Given the description of an element on the screen output the (x, y) to click on. 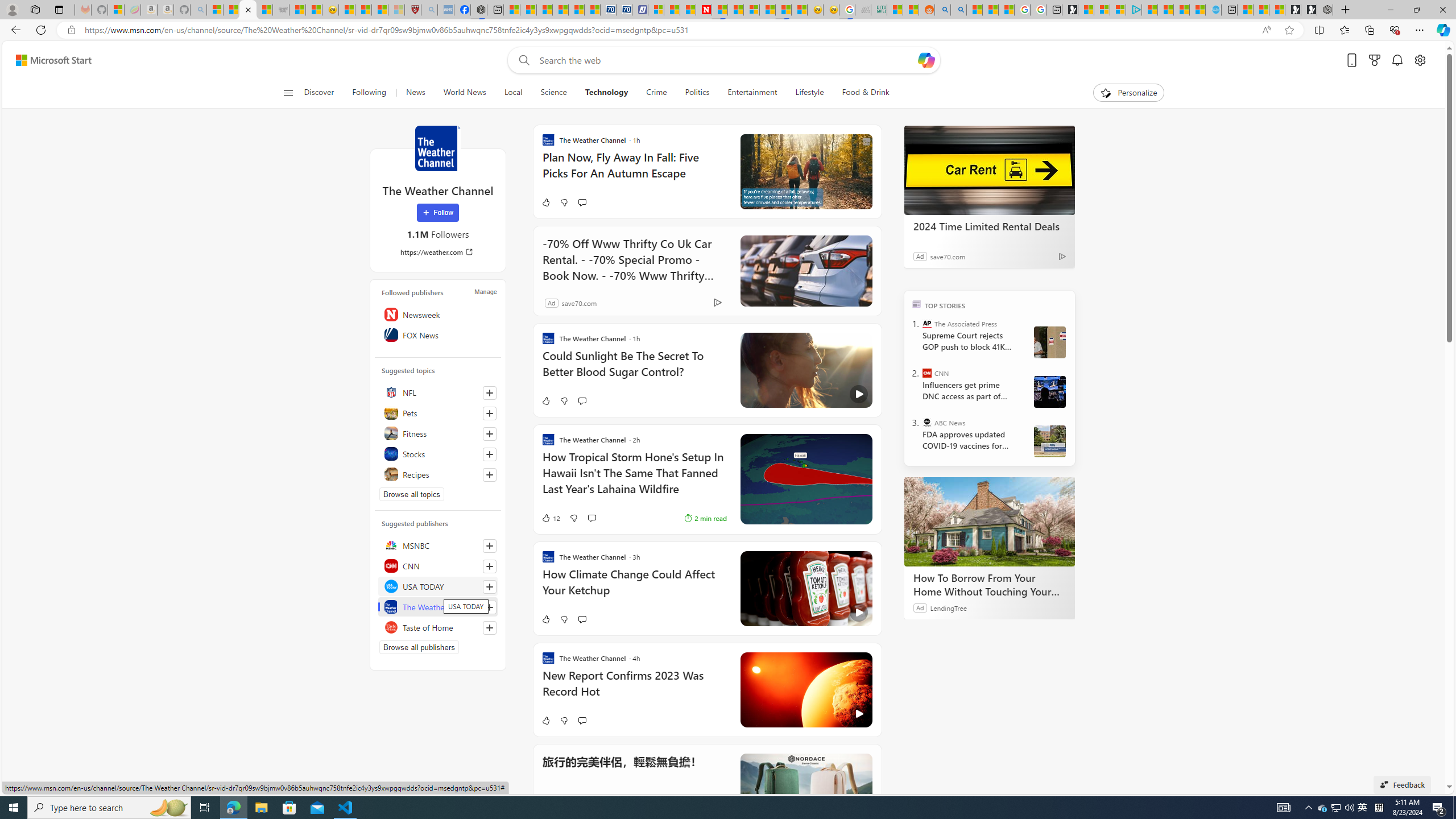
Pets (437, 412)
Browse all topics (412, 494)
